Given the description of an element on the screen output the (x, y) to click on. 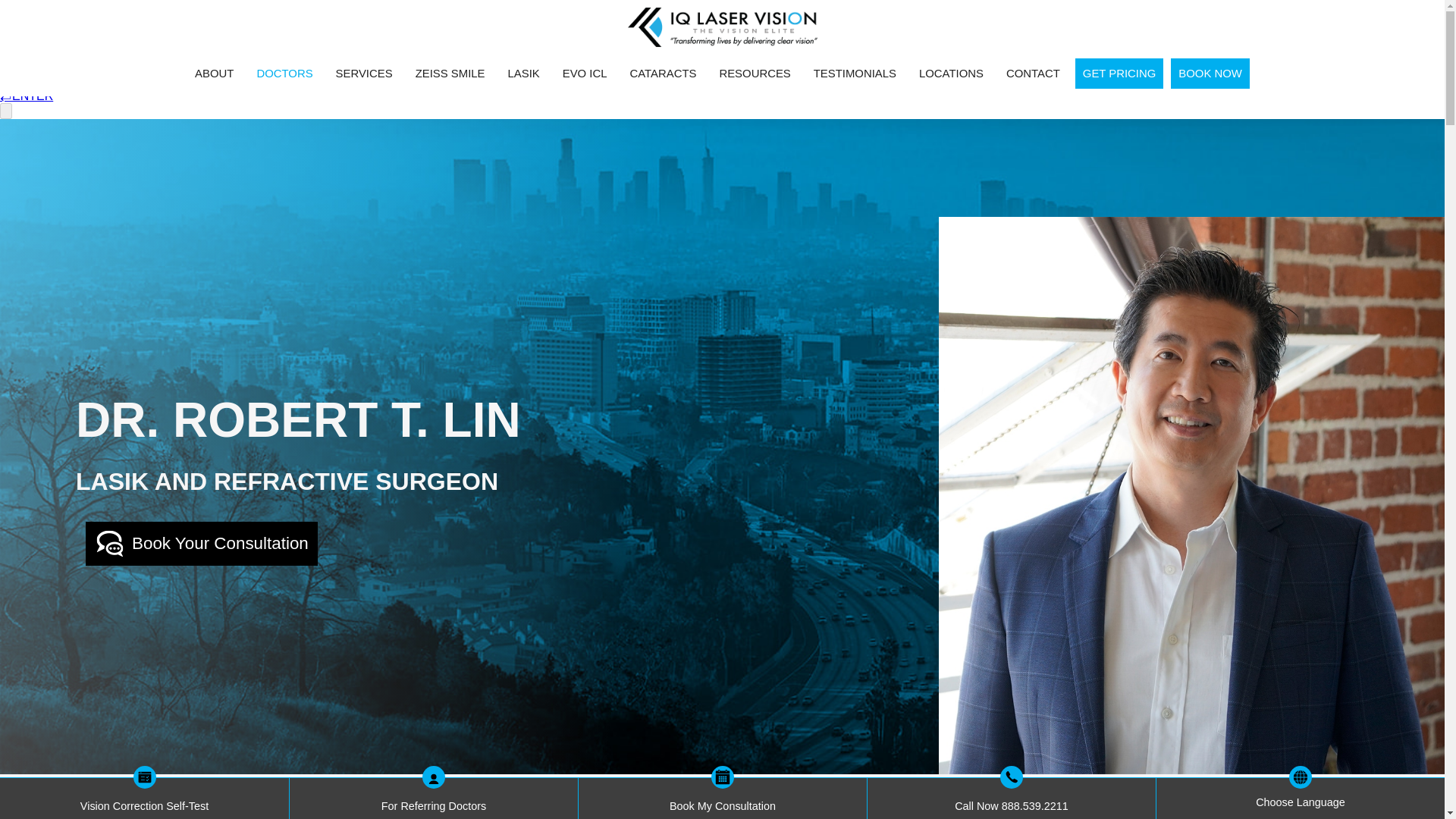
ZEISS SMILE (450, 73)
IQ Laser Vision Home Page (721, 26)
ABOUT (214, 73)
DOCTORS (284, 73)
SERVICES (364, 73)
Doctors (284, 73)
About IQ Laser Vision  (214, 73)
